Given the description of an element on the screen output the (x, y) to click on. 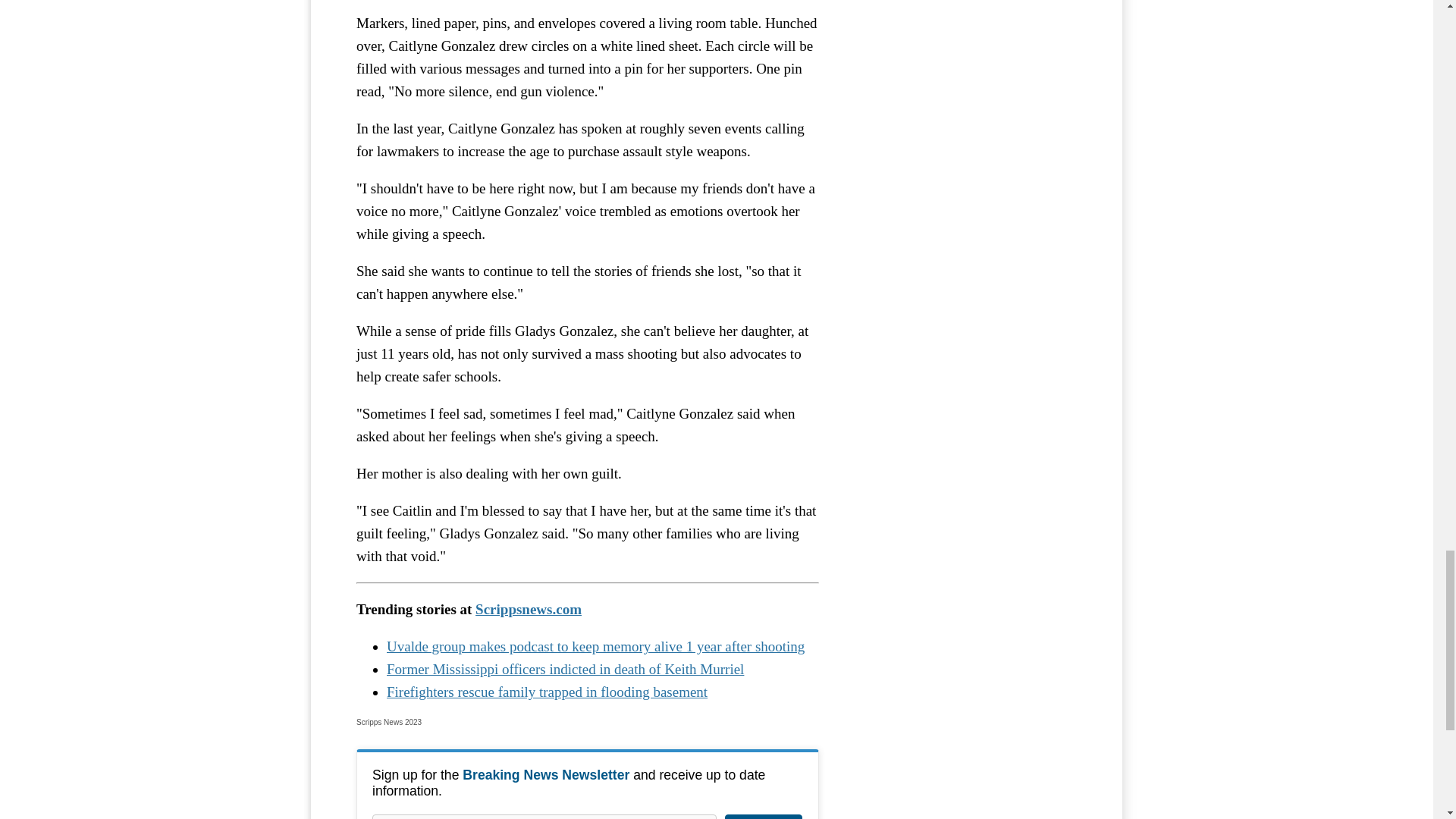
Submit (763, 816)
